Given the description of an element on the screen output the (x, y) to click on. 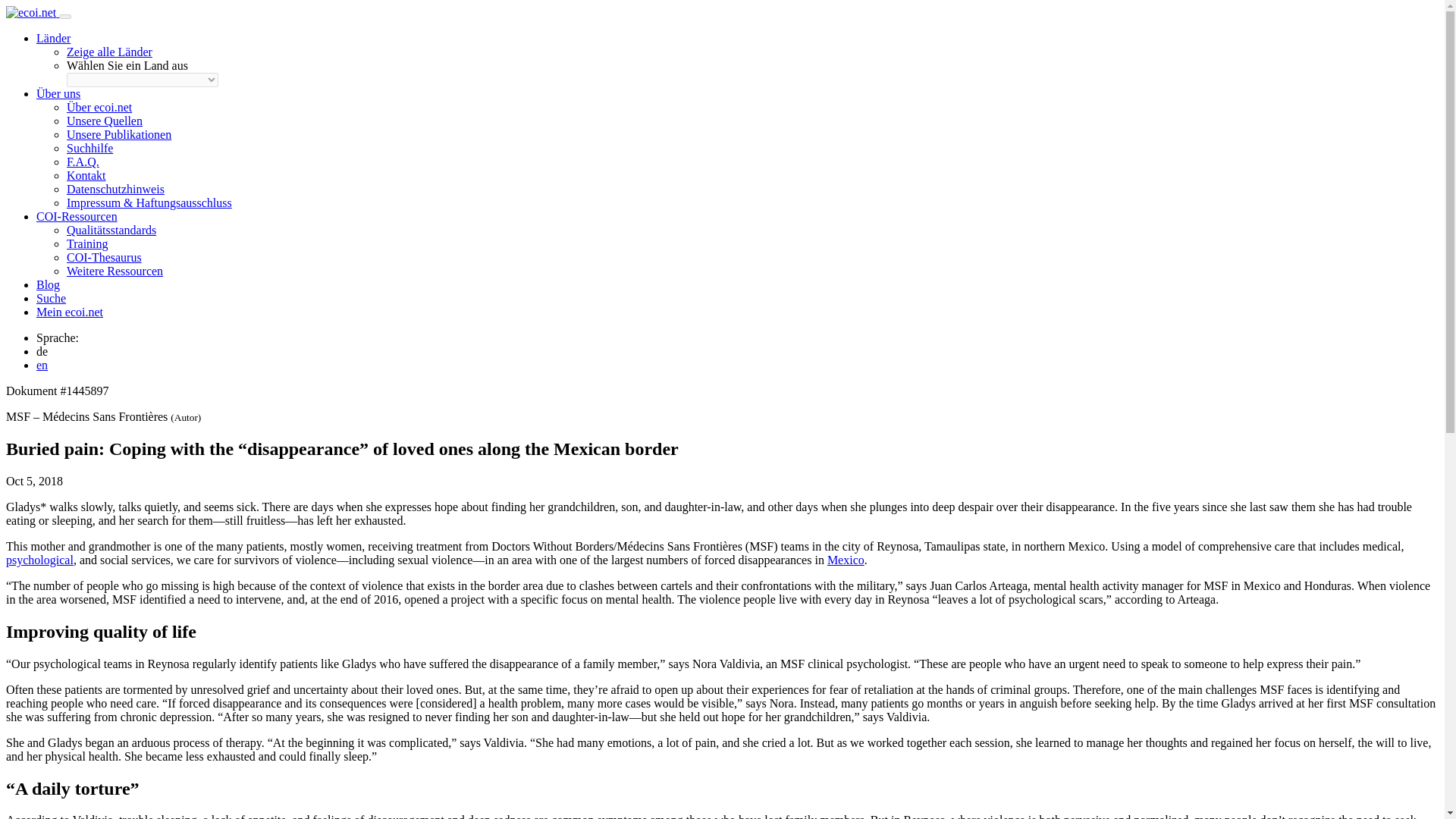
Suche (50, 297)
Datenschutzhinweis (115, 188)
Suchhilfe (89, 147)
Zur Startseite von ecoi.net gehen (32, 11)
Englisch (42, 364)
Mexico (845, 559)
F.A.Q. (82, 161)
en (42, 364)
Mein ecoi.net (69, 311)
Unsere Publikationen (118, 133)
COI-Thesaurus (103, 256)
Training (86, 243)
psychological (39, 559)
Unsere Quellen (104, 120)
Kontakt (86, 174)
